Given the description of an element on the screen output the (x, y) to click on. 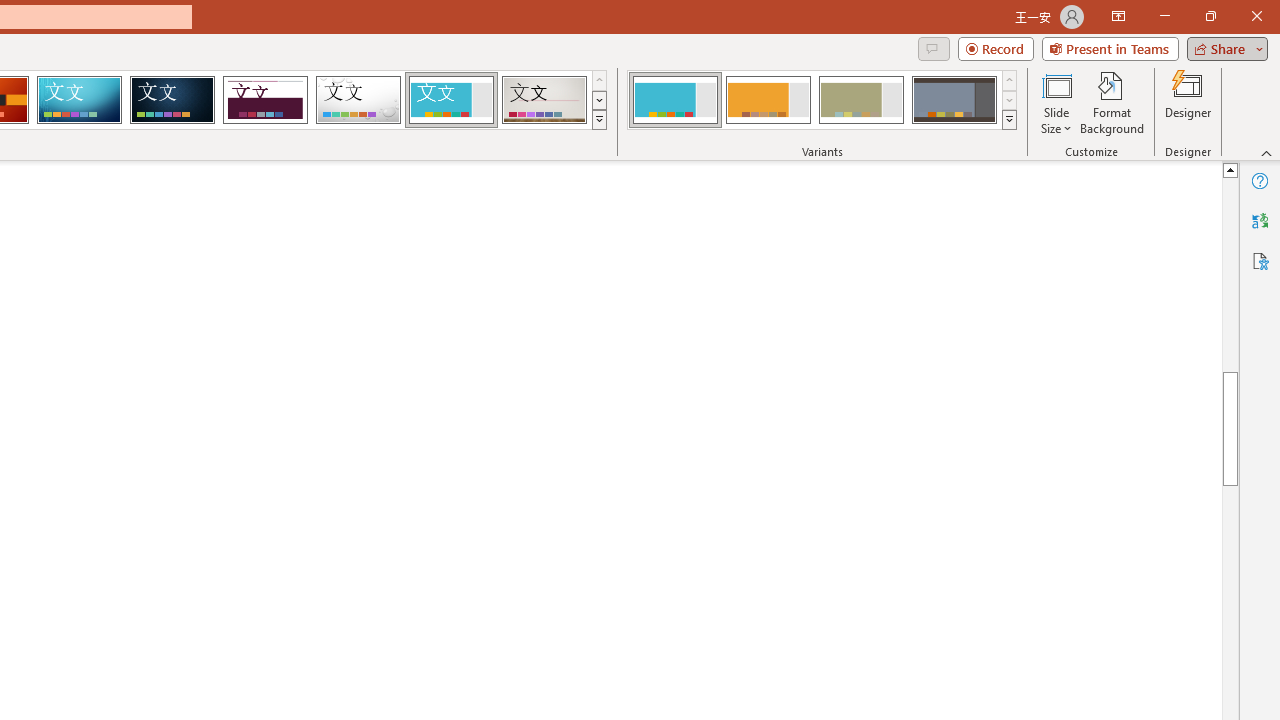
Frame Variant 2 (768, 100)
TextBox 61 (742, 407)
Circuit (79, 100)
TextBox 7 (1213, 288)
Variants (1009, 120)
